Given the description of an element on the screen output the (x, y) to click on. 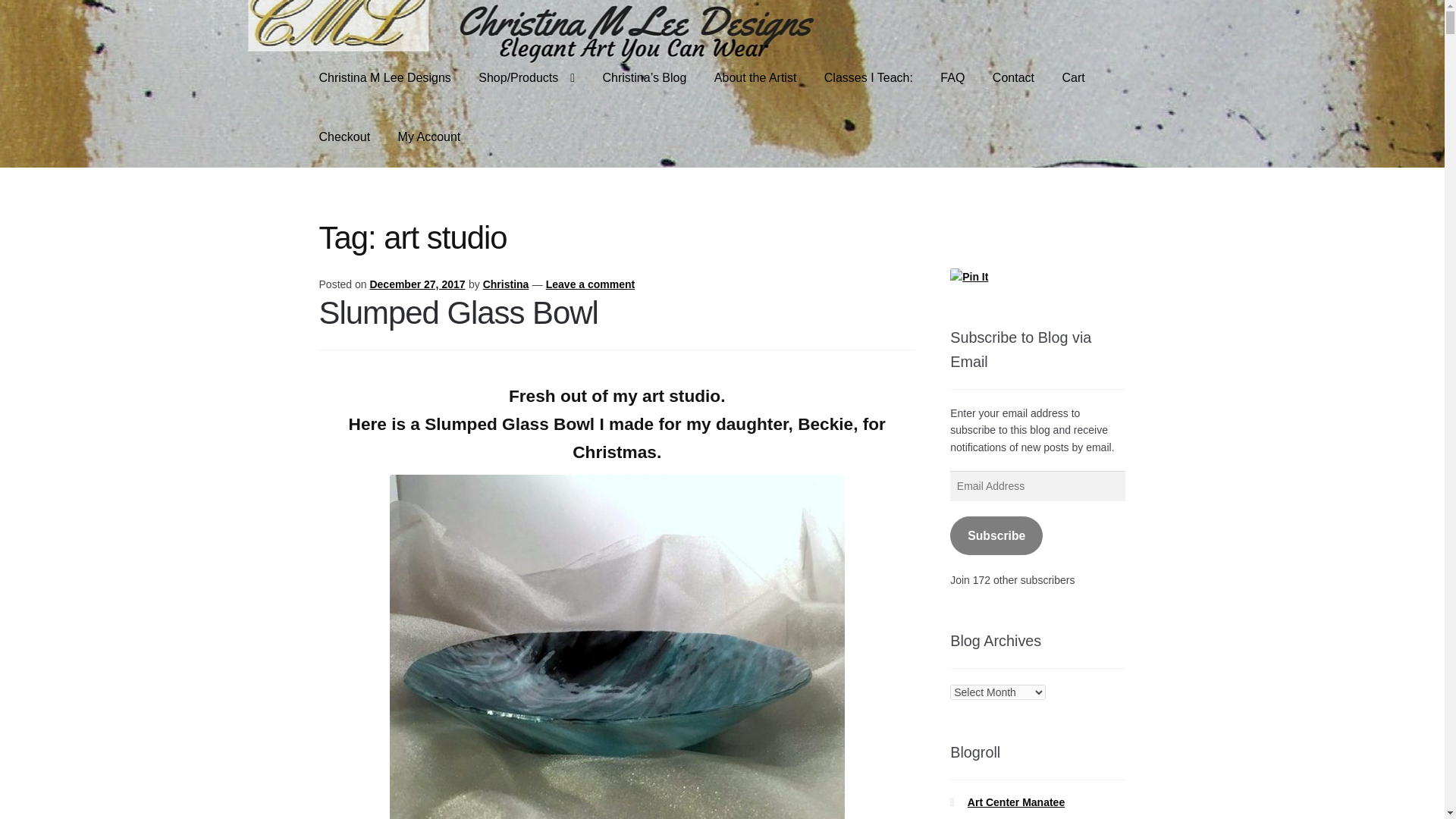
Christina M Lee Designs (385, 78)
Leave a comment (590, 284)
About the Artist (755, 78)
Checkout (344, 137)
Slumped Glass Bowl (458, 312)
December 27, 2017 (416, 284)
My Account (429, 137)
Classes I Teach: (868, 78)
Contact (1012, 78)
